Given the description of an element on the screen output the (x, y) to click on. 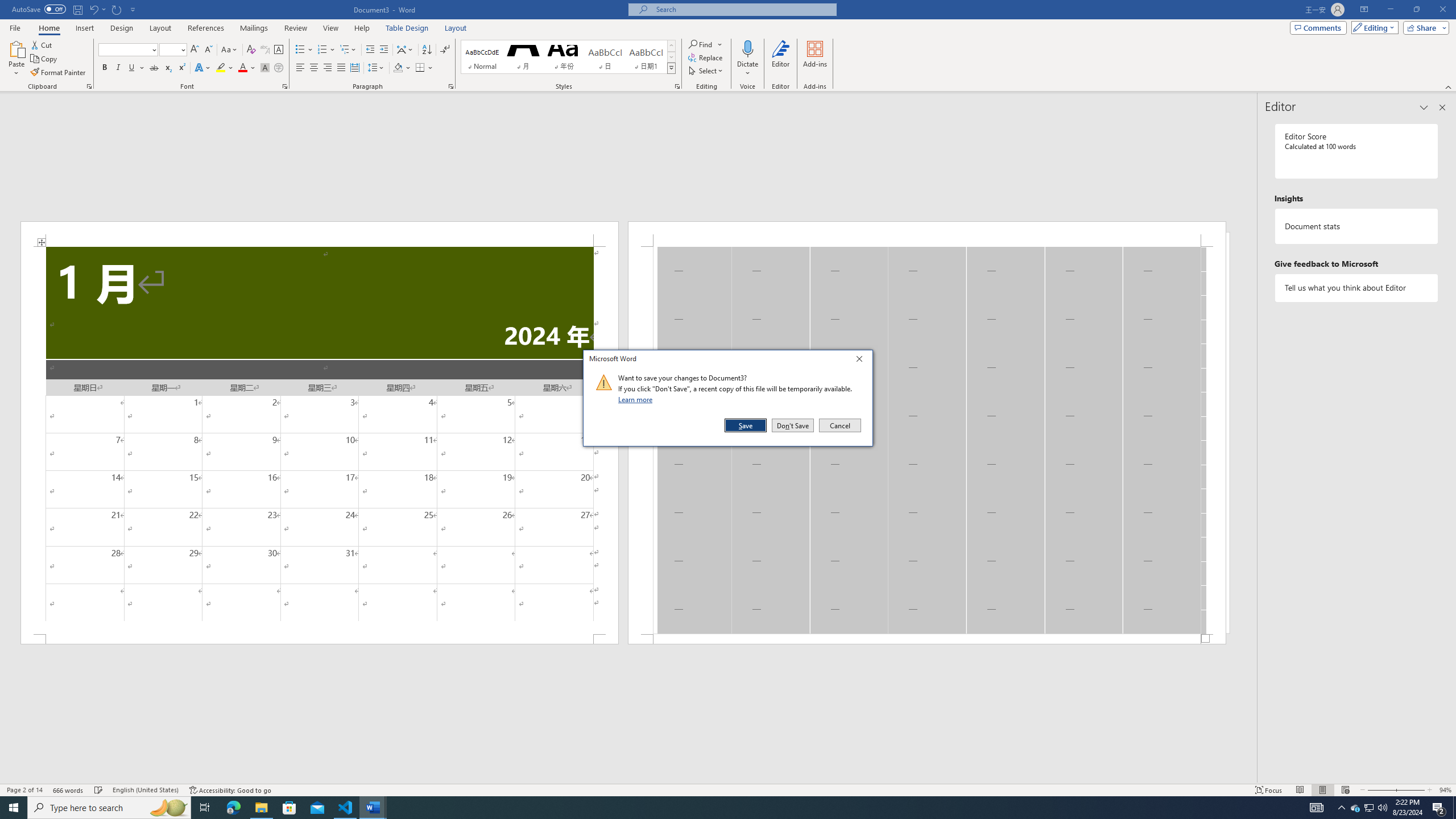
Layout (455, 28)
Web Layout (1344, 790)
Undo Apply Quick Style (92, 9)
Bullets (304, 49)
Borders (419, 67)
Underline (131, 67)
Microsoft Edge (233, 807)
Dictate (747, 58)
Character Border (278, 49)
Design (122, 28)
Insert (83, 28)
AutomationID: QuickStylesGallery (568, 56)
